Given the description of an element on the screen output the (x, y) to click on. 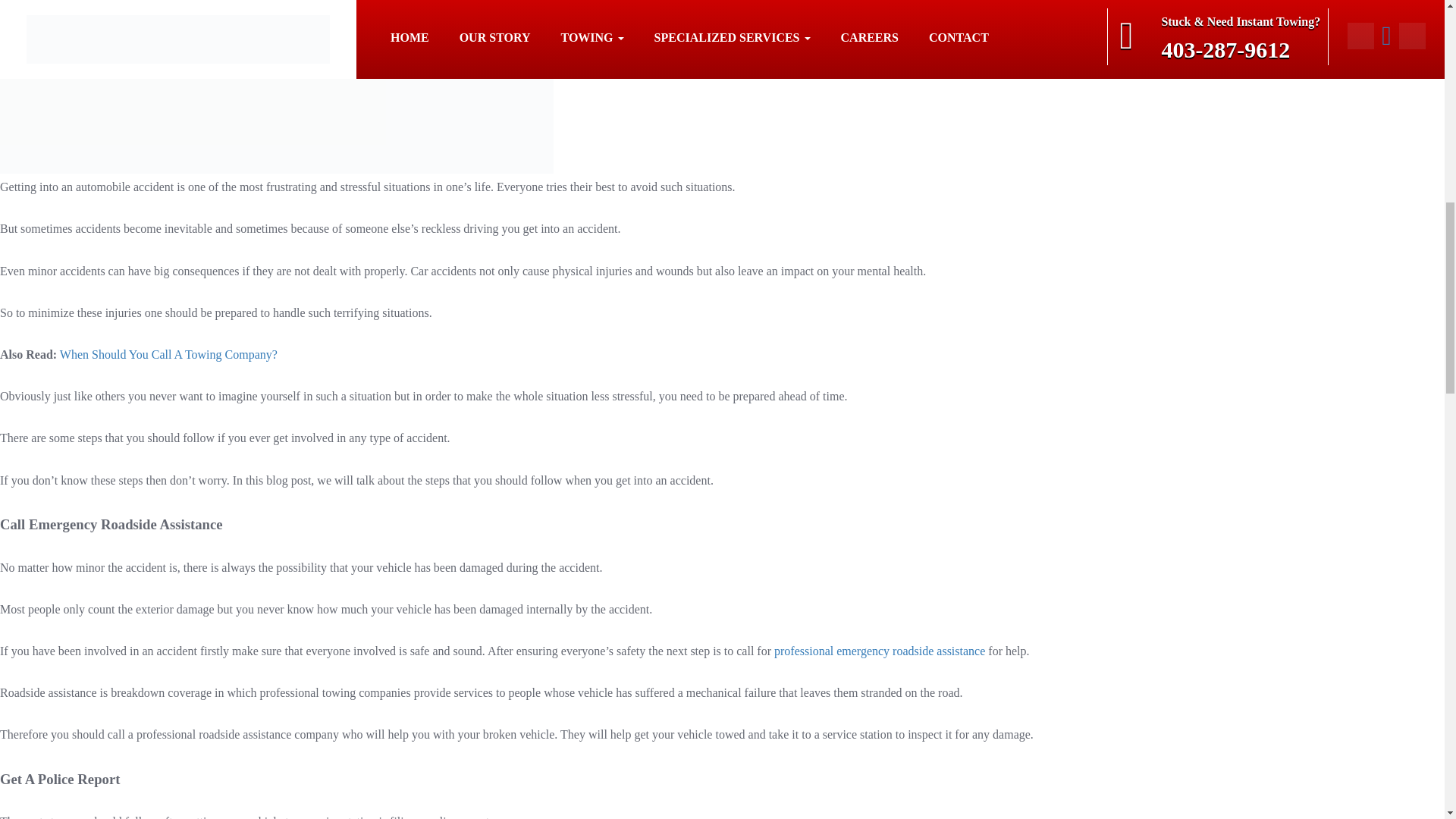
professional emergency roadside assistance (879, 650)
When Should You Call A Towing Company? (168, 354)
